Given the description of an element on the screen output the (x, y) to click on. 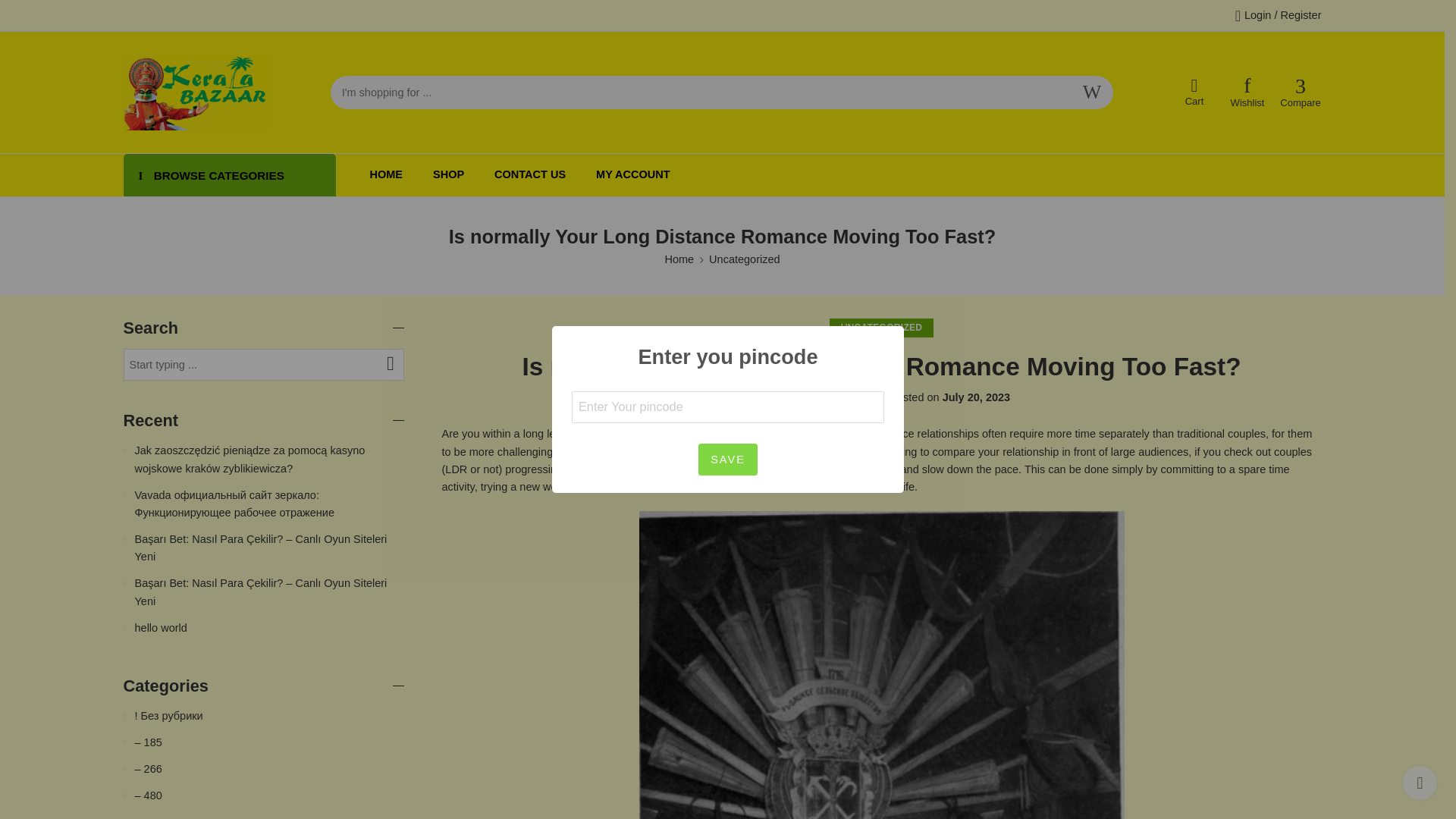
Cart (1194, 92)
Uncategorized (744, 259)
Jsoxooew9929e9dizjn (825, 397)
HOME (386, 174)
MY ACCOUNT (632, 174)
UNCATEGORIZED (882, 327)
Kerala Bazaar - Online Store (195, 92)
CONTACT US (530, 174)
July 20, 2023 (976, 397)
Compare (1300, 92)
Compare (1300, 92)
Wishlist (1247, 92)
SHOP (448, 174)
Home (678, 259)
Wishlist (1247, 92)
